Given the description of an element on the screen output the (x, y) to click on. 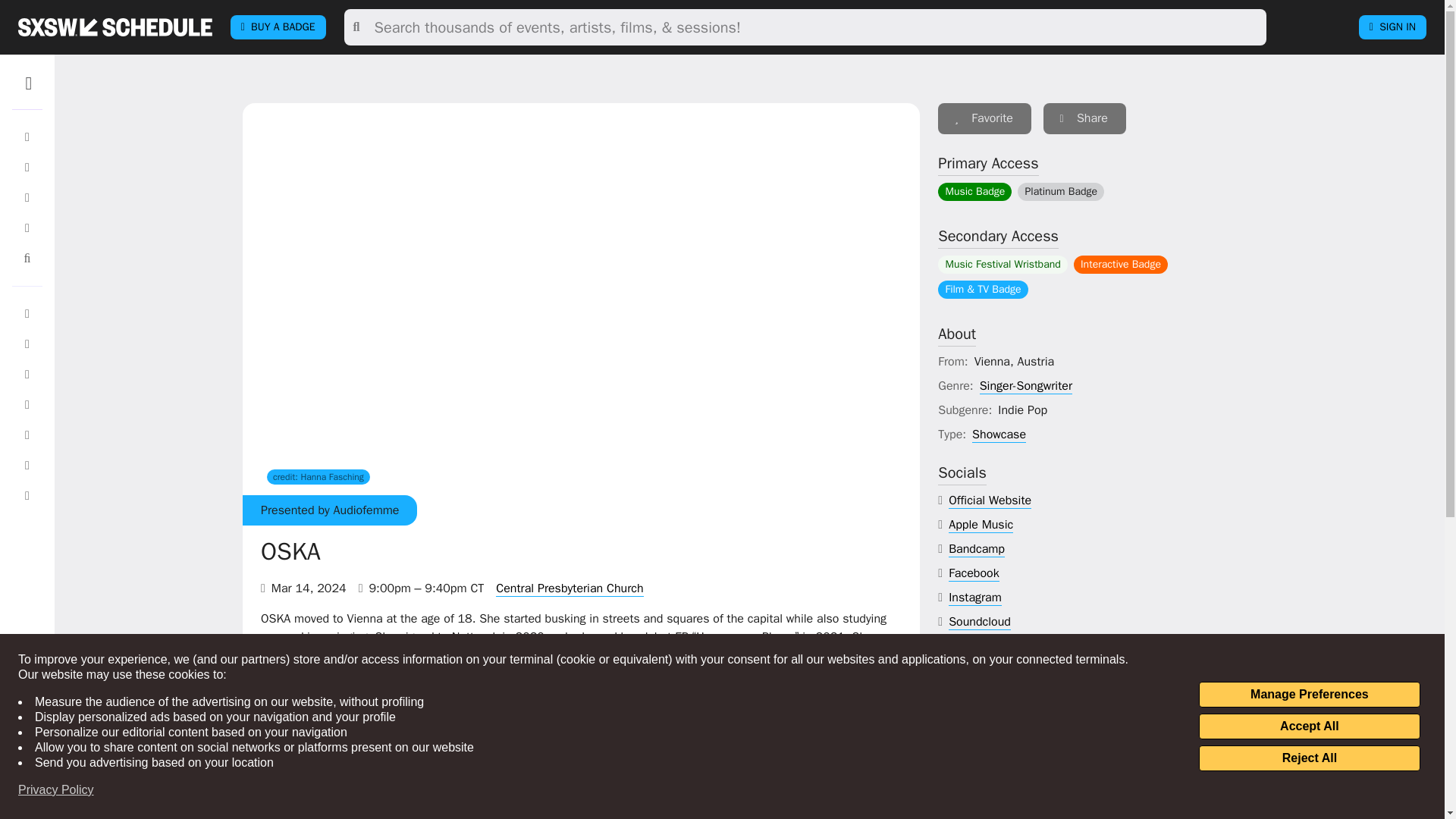
Central Presbyterian Church (569, 588)
SIGN IN (1392, 27)
Presented by Audiofemme (329, 509)
website (989, 500)
apple (981, 524)
Reject All (1309, 758)
Accept All (1309, 726)
Sign In to add to your favorites. (983, 118)
BUY A BADGE (278, 27)
Manage Preferences (1309, 694)
